Given the description of an element on the screen output the (x, y) to click on. 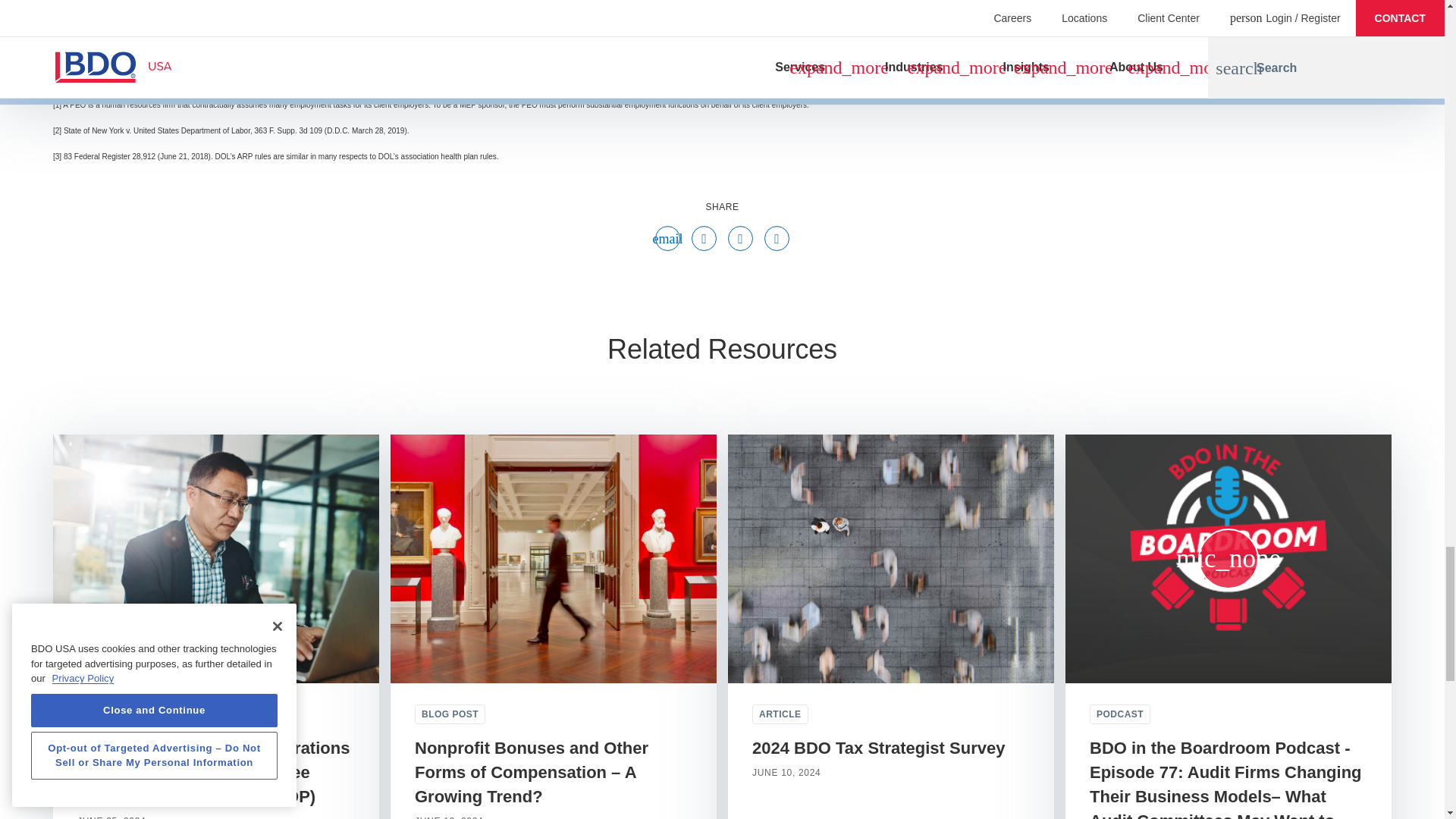
SHARE (722, 206)
Email This Insight (667, 239)
LinkedIn (776, 239)
X (740, 239)
Facebook (703, 239)
